Given the description of an element on the screen output the (x, y) to click on. 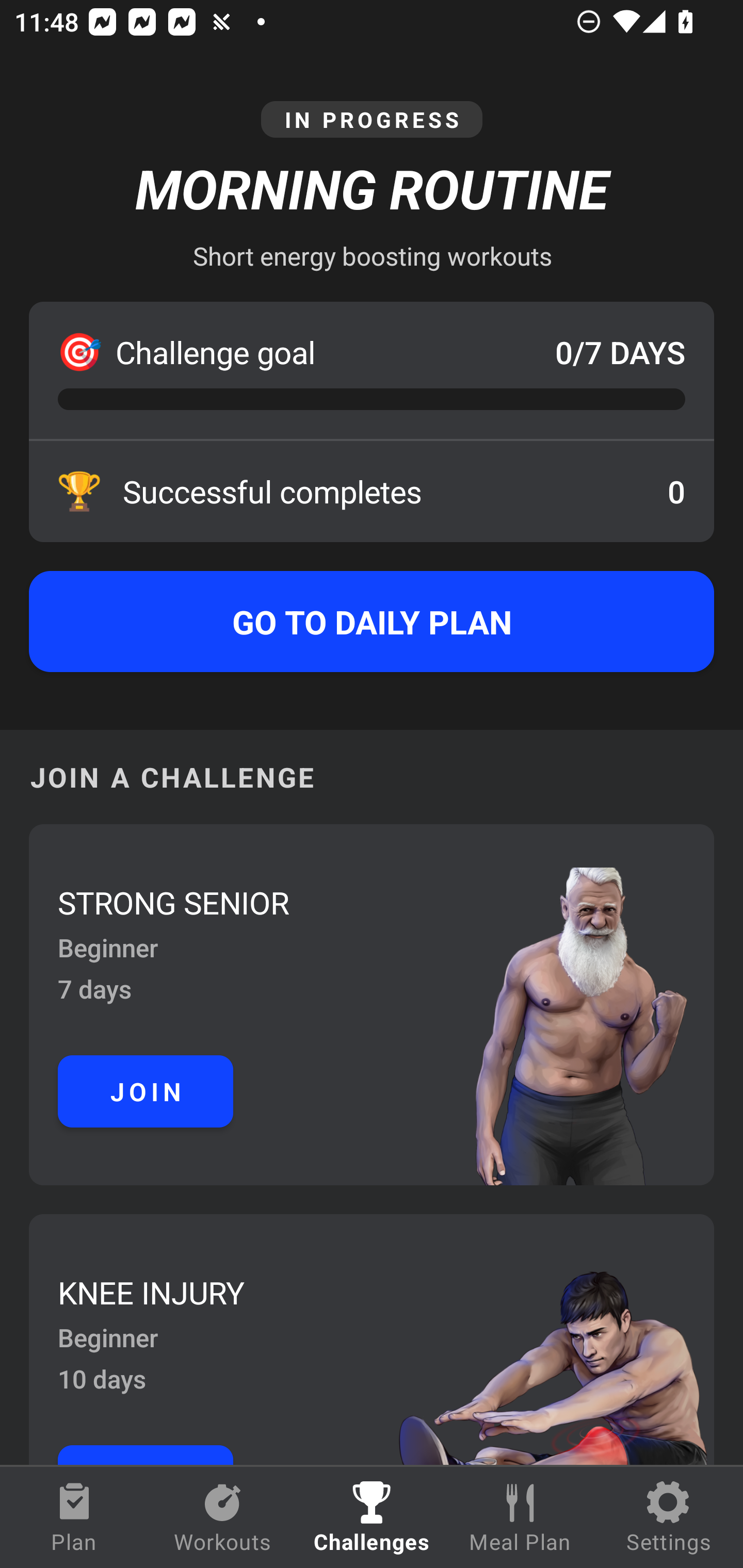
GO TO DAILY PLAN (371, 621)
JOIN (145, 1091)
 Plan  (74, 1517)
 Workouts  (222, 1517)
 Meal Plan  (519, 1517)
 Settings  (668, 1517)
